Given the description of an element on the screen output the (x, y) to click on. 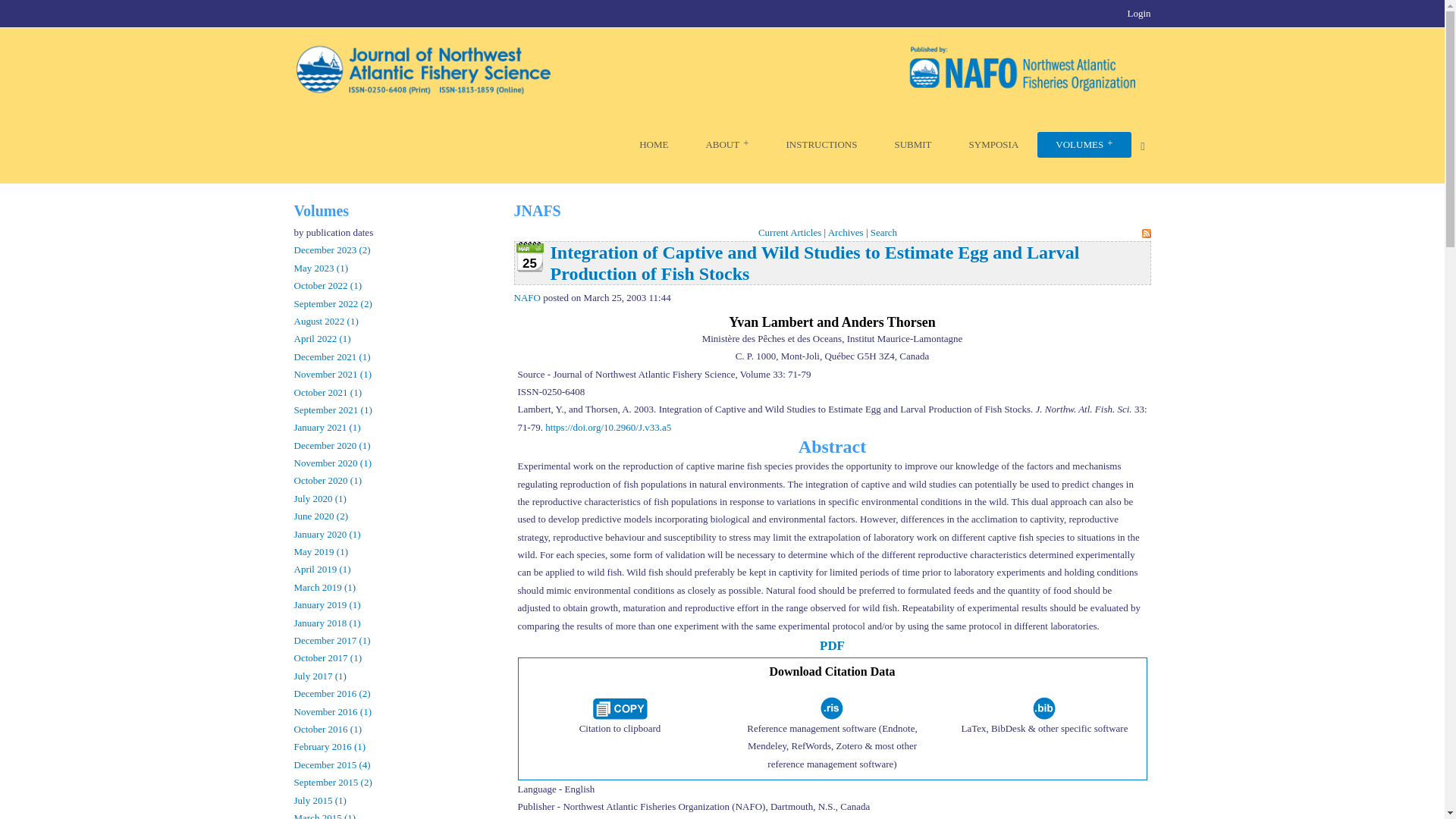
HOME (653, 144)
Login (1138, 12)
Instructions for authors (822, 144)
Journal of Northwest Atlantic Fishery Science (653, 144)
Volumes (1083, 144)
JNAFS (722, 66)
SUBMIT (912, 144)
SYMPOSIA (993, 144)
ABOUT (727, 144)
Submit (912, 144)
Login (1138, 12)
About (727, 144)
VOLUMES (1083, 144)
INSTRUCTIONS (822, 144)
